Given the description of an element on the screen output the (x, y) to click on. 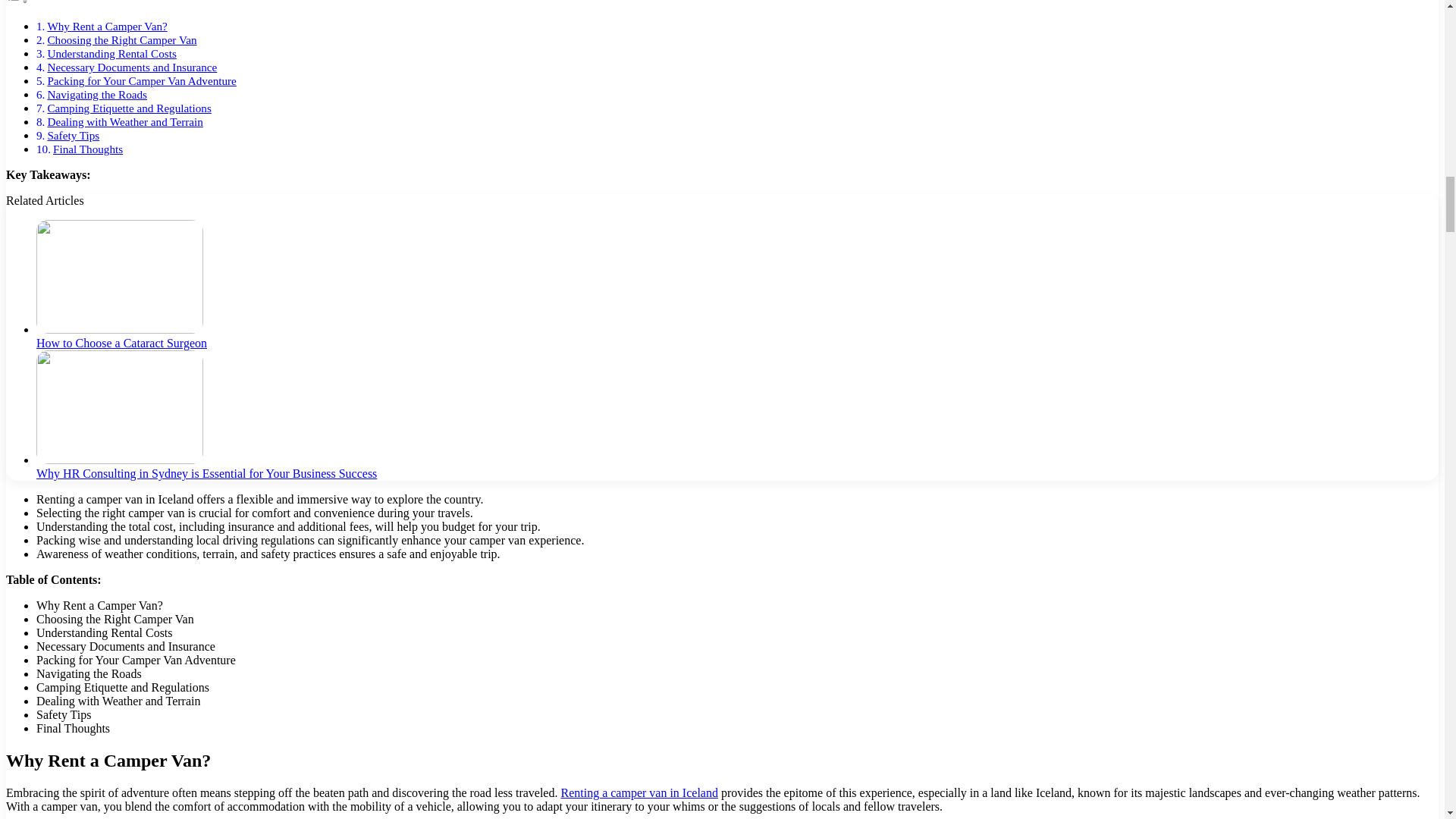
Choosing the Right Camper Van (121, 39)
Dealing with Weather and Terrain (124, 121)
Packing for Your Camper Van Adventure (140, 80)
Necessary Documents and Insurance (131, 66)
Final Thoughts (87, 148)
Choosing the Right Camper Van (121, 39)
Packing for Your Camper Van Adventure (140, 80)
How to Choose a Cataract Surgeon (121, 342)
Camping Etiquette and Regulations (128, 107)
Navigating the Roads (96, 93)
